Given the description of an element on the screen output the (x, y) to click on. 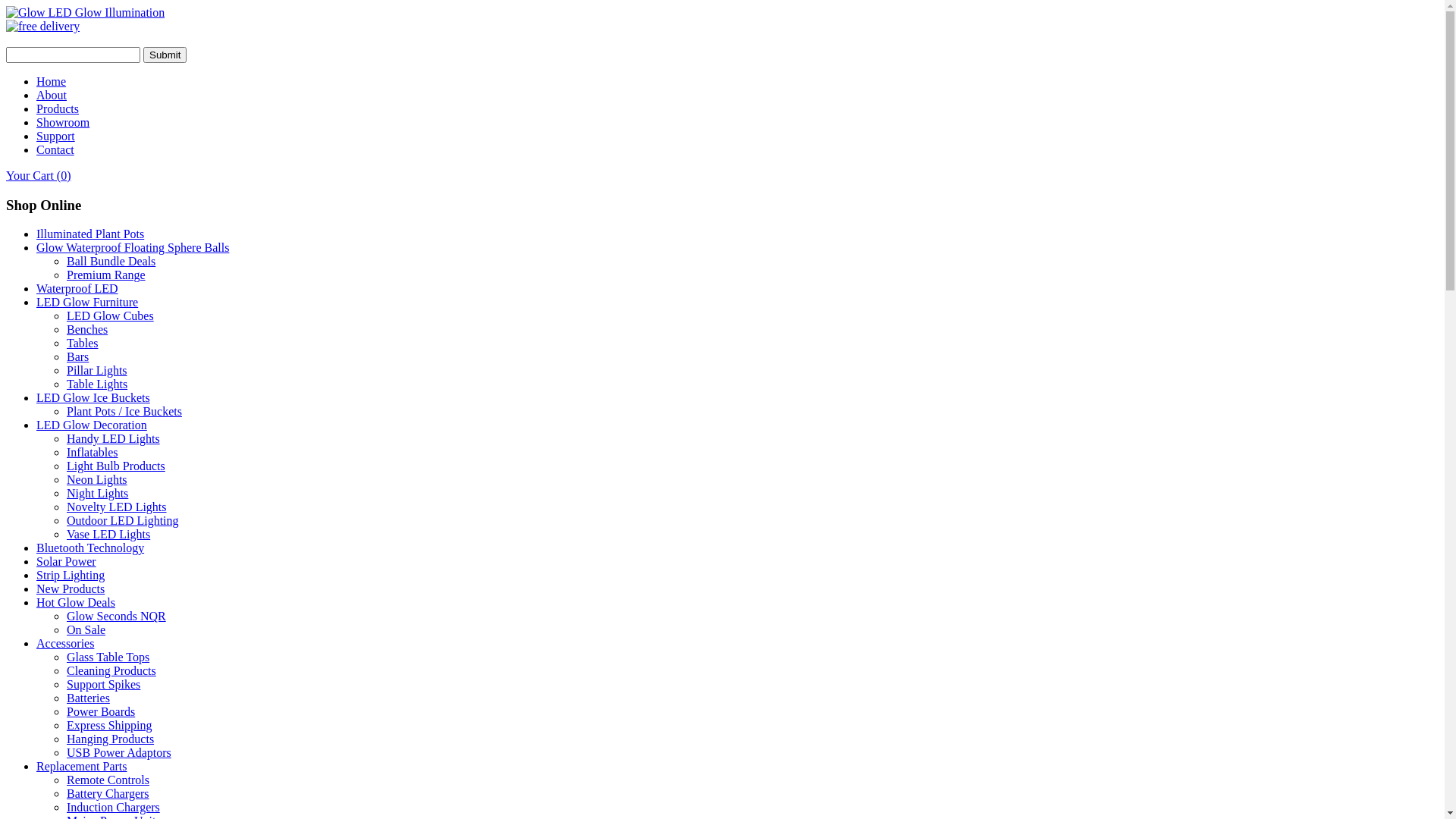
Night Lights Element type: text (97, 492)
Solar Power Element type: text (66, 561)
Hot Glow Deals Element type: text (75, 602)
Home Element type: text (50, 81)
Accessories Element type: text (65, 643)
USB Power Adaptors Element type: text (118, 752)
Hanging Products Element type: text (109, 738)
Express Shipping Element type: text (108, 724)
Your Cart (0) Element type: text (38, 175)
Waterproof LED Element type: text (77, 288)
Illuminated Plant Pots Element type: text (90, 233)
Tables Element type: text (82, 342)
Support Element type: text (55, 135)
LED Glow Cubes Element type: text (109, 315)
Bars Element type: text (77, 356)
Plant Pots / Ice Buckets Element type: text (124, 410)
Replacement Parts Element type: text (81, 765)
Ball Bundle Deals Element type: text (110, 260)
Glass Table Tops Element type: text (107, 656)
Vase LED Lights Element type: text (108, 533)
Handy LED Lights Element type: text (113, 438)
Novelty LED Lights Element type: text (116, 506)
Outdoor LED Lighting Element type: text (122, 520)
Support Spikes Element type: text (103, 683)
Induction Chargers Element type: text (113, 806)
Battery Chargers Element type: text (107, 793)
Strip Lighting Element type: text (70, 574)
About Element type: text (51, 94)
LED Glow Furniture Element type: text (87, 301)
Bluetooth Technology Element type: text (90, 547)
LED Glow Ice Buckets Element type: text (93, 397)
free delivery Element type: hover (42, 26)
Batteries Element type: text (87, 697)
Contact Element type: text (55, 149)
Power Boards Element type: text (100, 711)
Light Bulb Products Element type: text (115, 465)
On Sale Element type: text (85, 629)
Premium Range Element type: text (105, 274)
Products Element type: text (57, 108)
LED Glow Decoration Element type: text (91, 424)
Glow Seconds NQR Element type: text (116, 615)
New Products Element type: text (70, 588)
Pillar Lights Element type: text (96, 370)
Neon Lights Element type: text (96, 479)
Inflatables Element type: text (92, 451)
Benches Element type: text (86, 329)
Showroom Element type: text (62, 122)
Remote Controls Element type: text (107, 779)
Table Lights Element type: text (96, 383)
Cleaning Products Element type: text (111, 670)
Glow Waterproof Floating Sphere Balls Element type: text (132, 247)
